Given the description of an element on the screen output the (x, y) to click on. 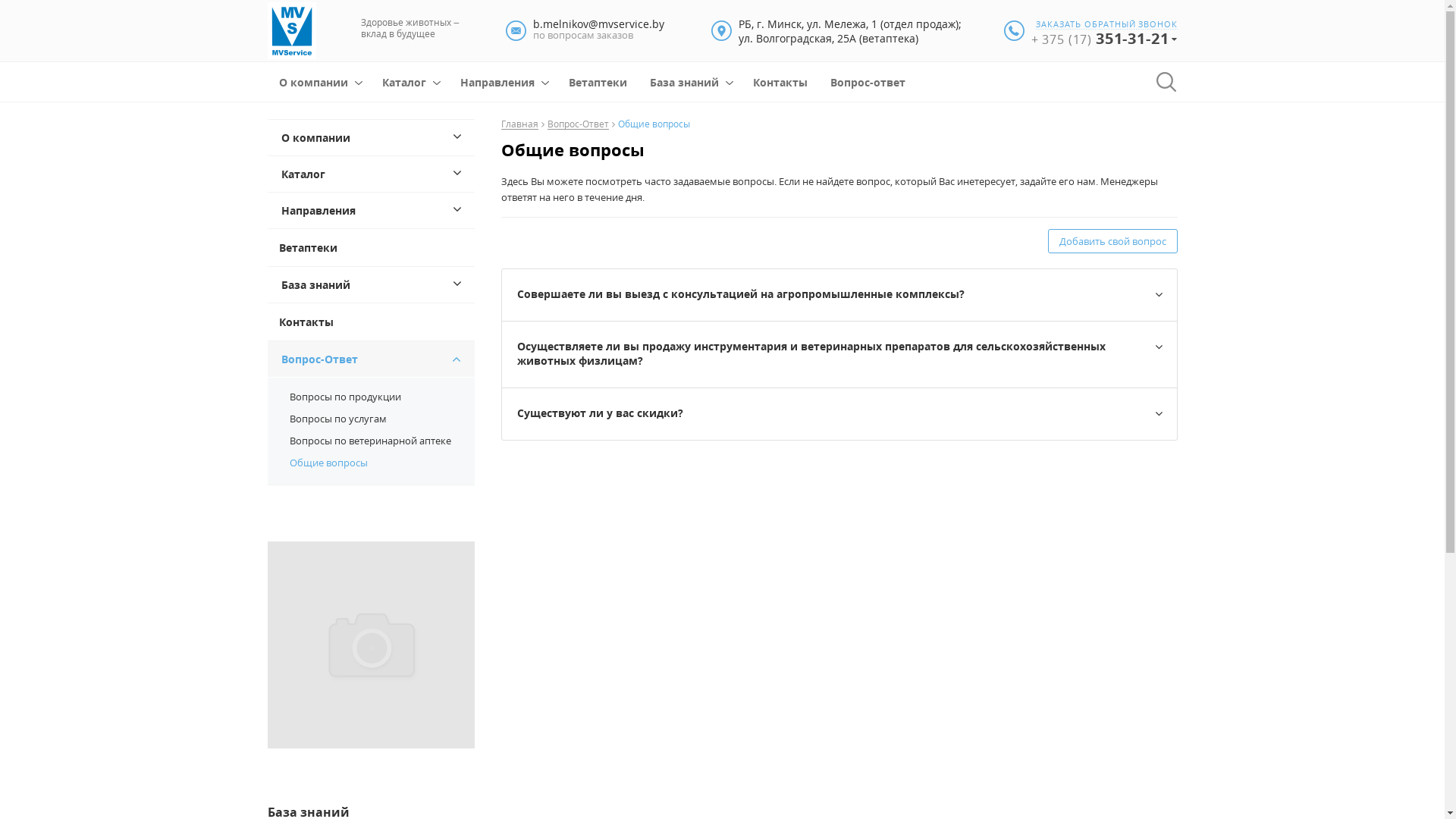
+ 375 (17) 351-31-21 Element type: text (1104, 38)
